Given the description of an element on the screen output the (x, y) to click on. 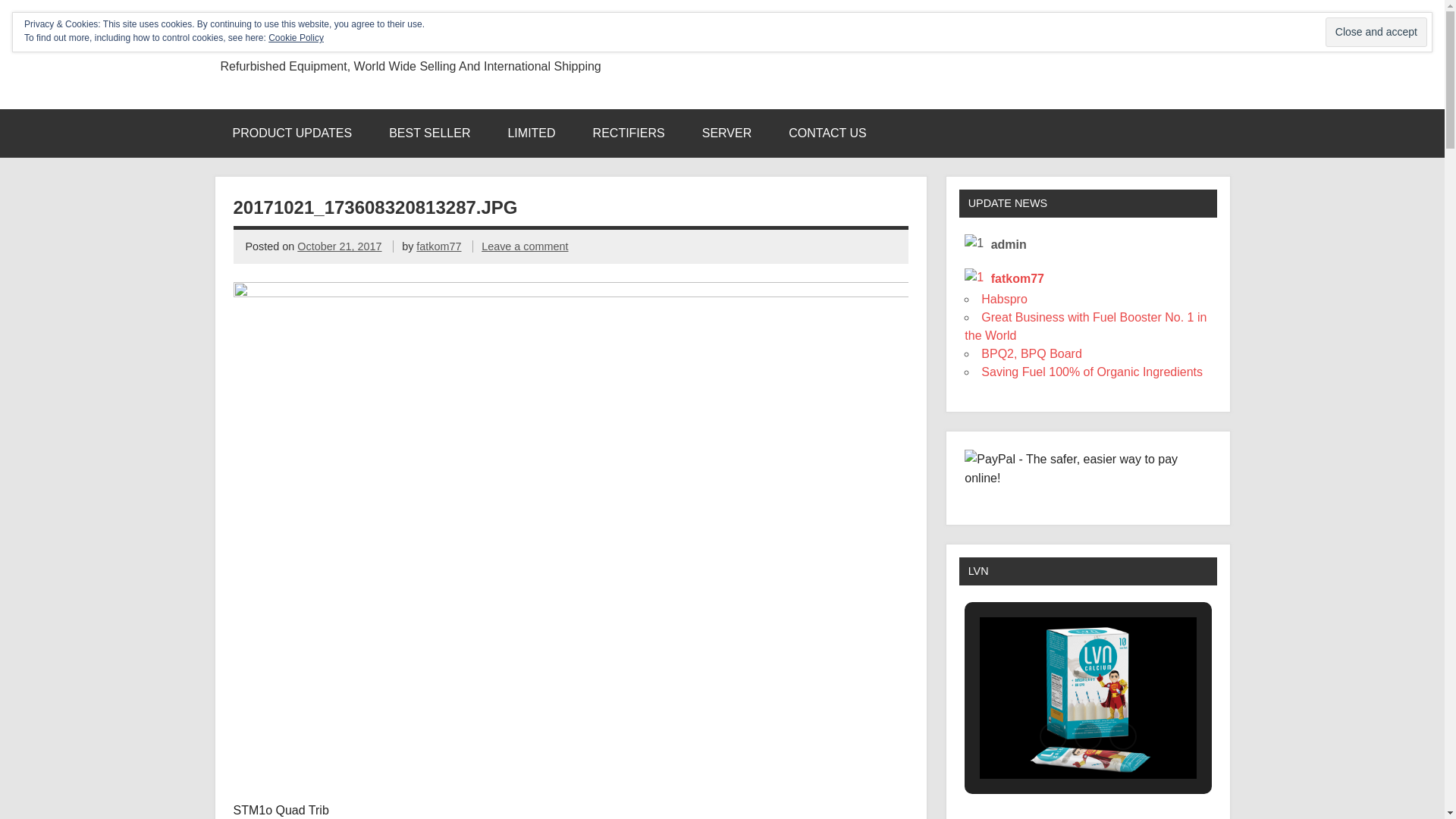
Leave a comment Element type: text (524, 246)
Saving Fuel 100% of Organic Ingredients Element type: text (1091, 371)
Habspro Element type: text (1003, 298)
Great Business with Fuel Booster No. 1 in the World Element type: text (1085, 326)
fatkom77 Element type: text (438, 246)
BEST SELLER Element type: text (429, 133)
Close and accept Element type: text (1376, 32)
October 21, 2017 Element type: text (339, 246)
PRODUCT UPDATES Element type: text (291, 133)
LVN Slim Element type: hover (1088, 697)
SERVER Element type: text (727, 133)
CONTACT US Element type: text (827, 133)
LIMITED Element type: text (531, 133)
RECTIFIERS Element type: text (628, 133)
Cookie Policy Element type: text (295, 37)
LVN Calcium Element type: hover (1087, 697)
BPQ2, BPQ Board Element type: text (1031, 353)
fatkom77 Element type: text (1004, 278)
TRI FATKOM INDONESIA, PT Element type: hover (239, 45)
